Given the description of an element on the screen output the (x, y) to click on. 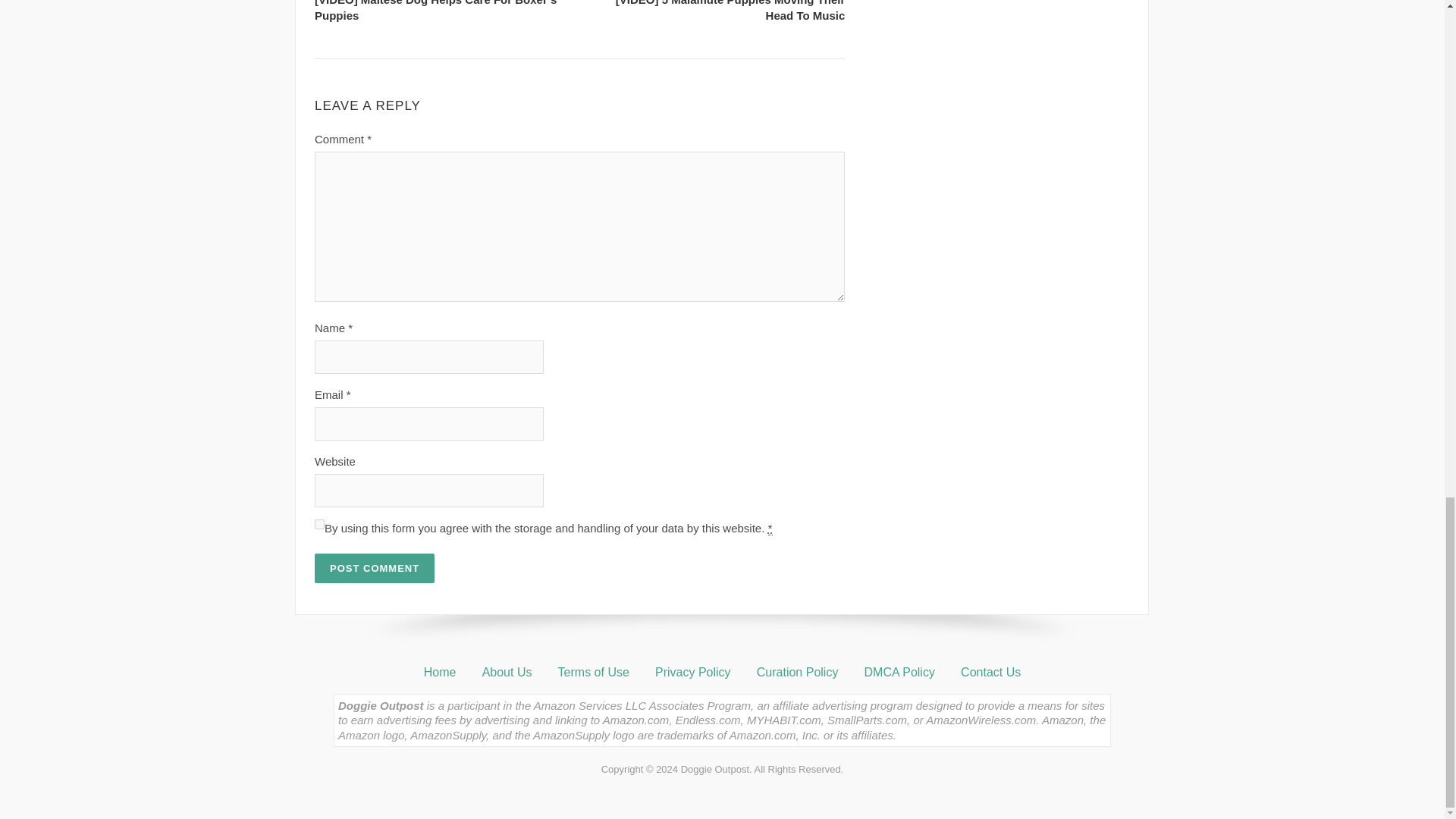
1 (319, 524)
Post Comment (373, 568)
